Given the description of an element on the screen output the (x, y) to click on. 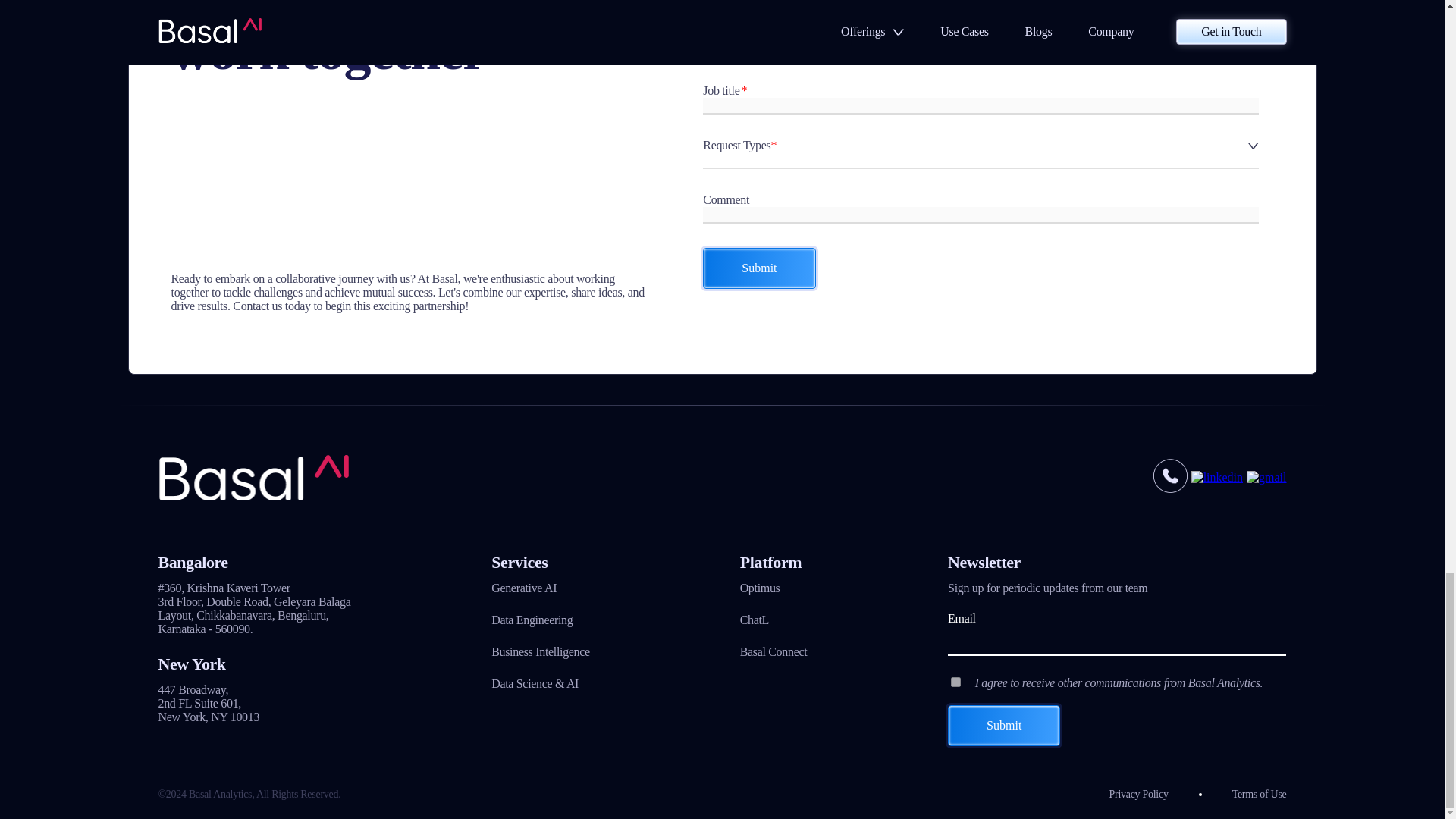
Basal Connect (773, 652)
on (955, 682)
Submit (1003, 725)
Generative AI (540, 588)
Submit (759, 268)
ChatL (773, 620)
Business Intelligence (540, 652)
Data Engineering (540, 620)
Optimus (773, 588)
